Given the description of an element on the screen output the (x, y) to click on. 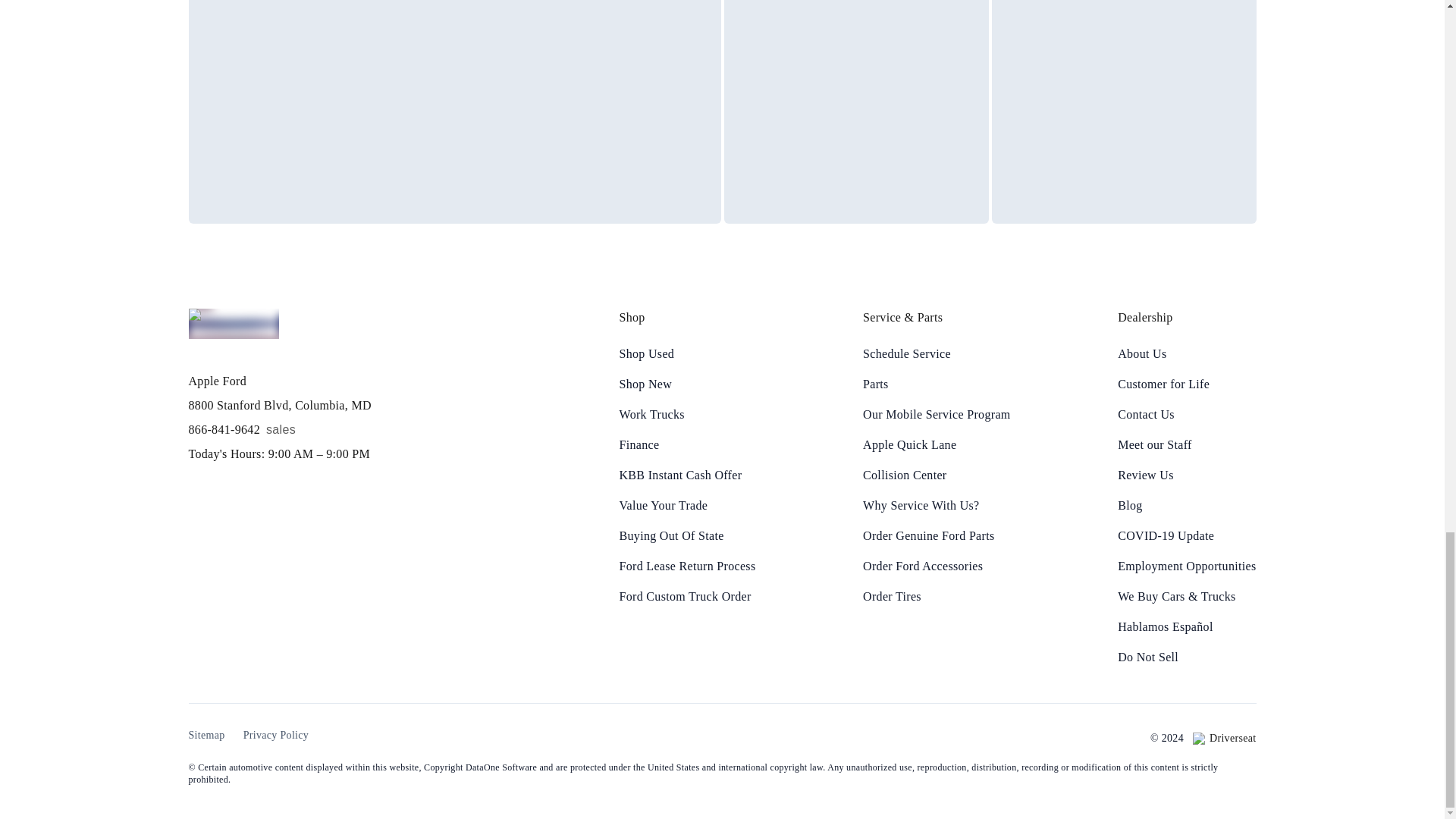
Finance (686, 444)
Ford Lease Return Process (686, 566)
Shop New (686, 384)
Value Your Trade (686, 505)
Shop Used (686, 353)
Buying Out Of State (686, 536)
Ford Custom Truck Order (686, 597)
Parts (936, 384)
Work Trucks (686, 414)
KBB Instant Cash Offer (686, 475)
